Given the description of an element on the screen output the (x, y) to click on. 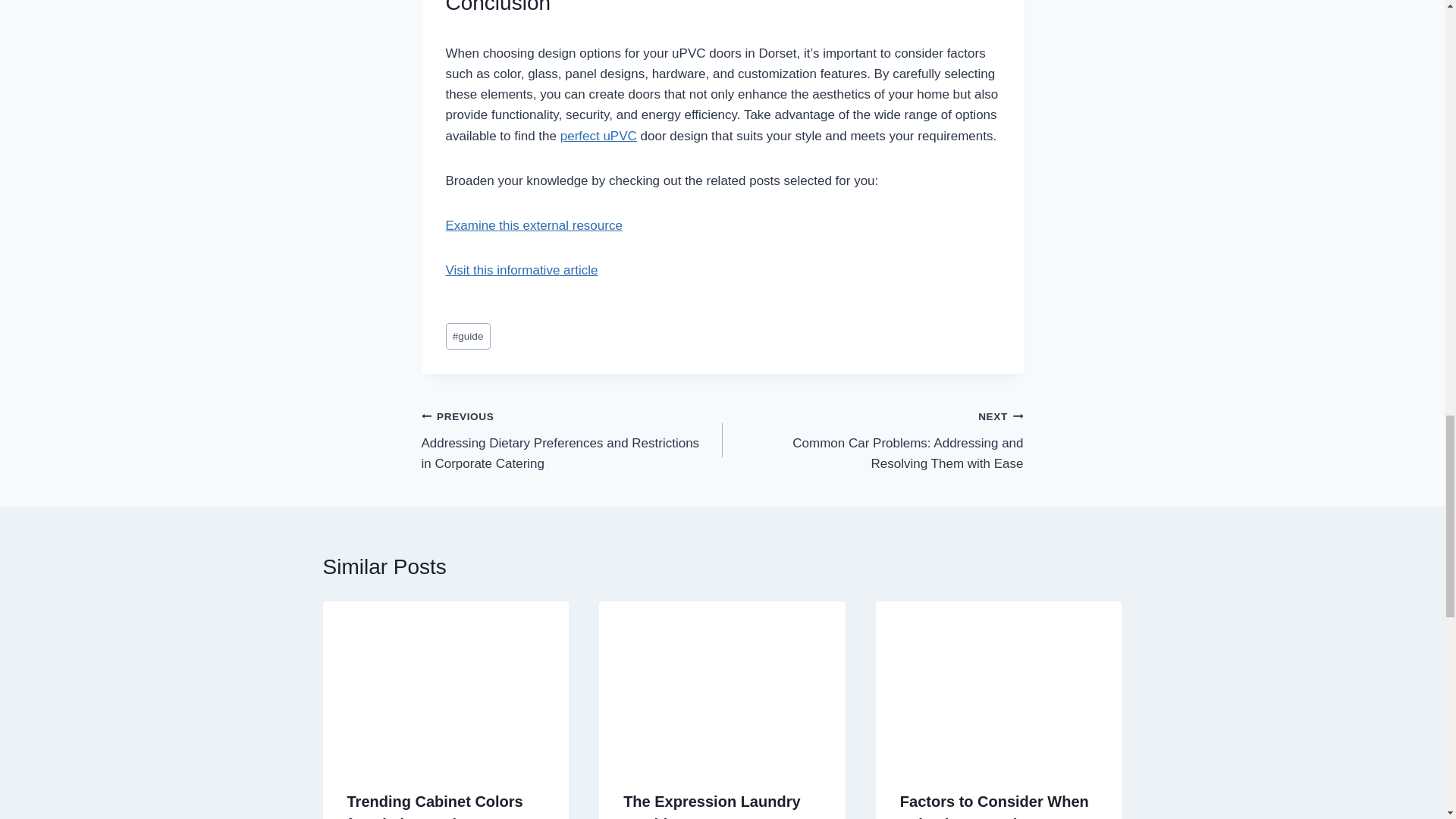
Visit this informative article (521, 269)
The Expression Laundry Washing (711, 806)
guide (467, 335)
Examine this external resource (534, 225)
Trending Cabinet Colors for Kitchen Makeovers (434, 806)
perfect uPVC (598, 135)
